Given the description of an element on the screen output the (x, y) to click on. 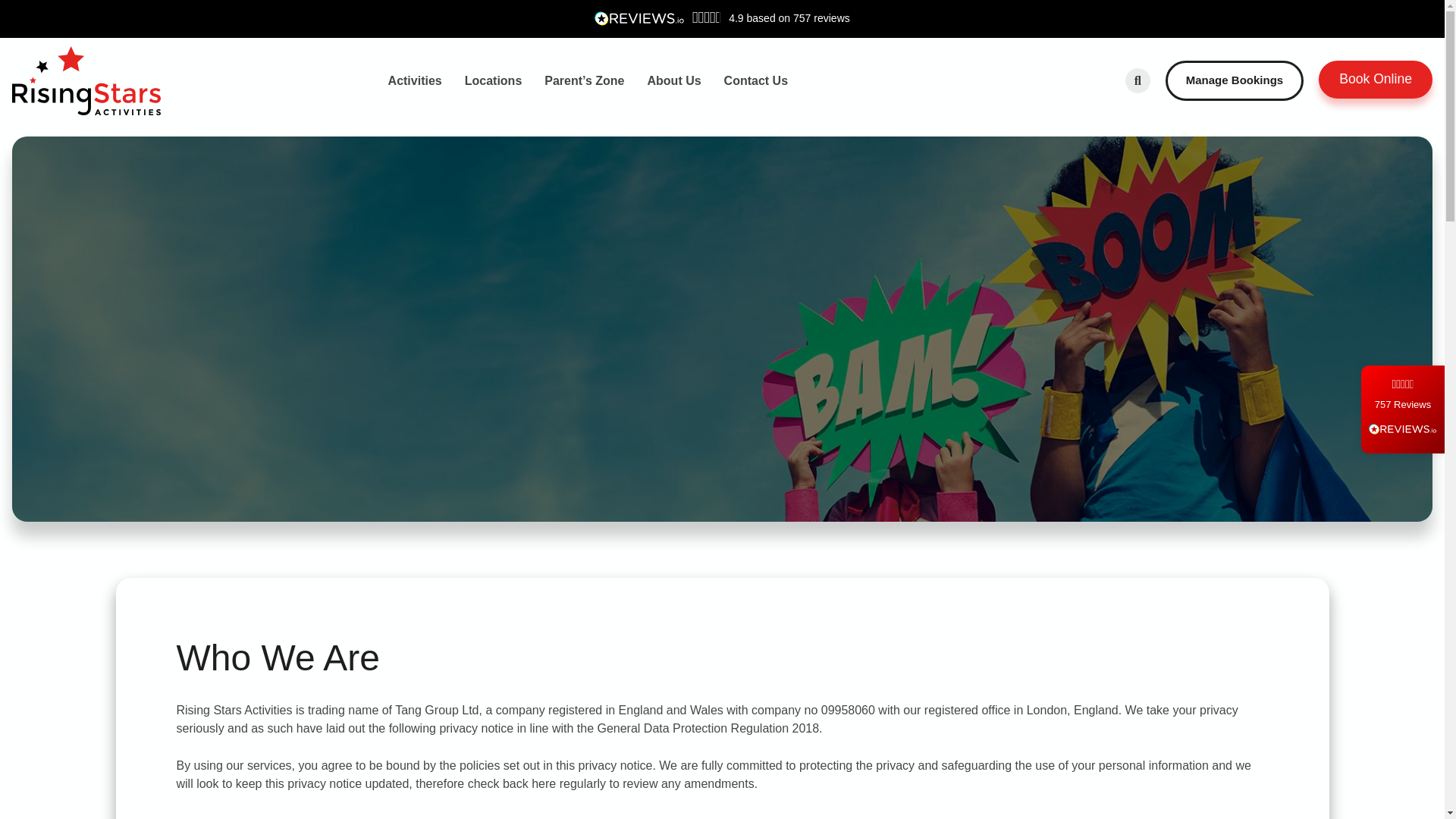
4.89 Stars (706, 17)
4.9 Stars (1402, 384)
REVIEWS.io (1402, 429)
